Given the description of an element on the screen output the (x, y) to click on. 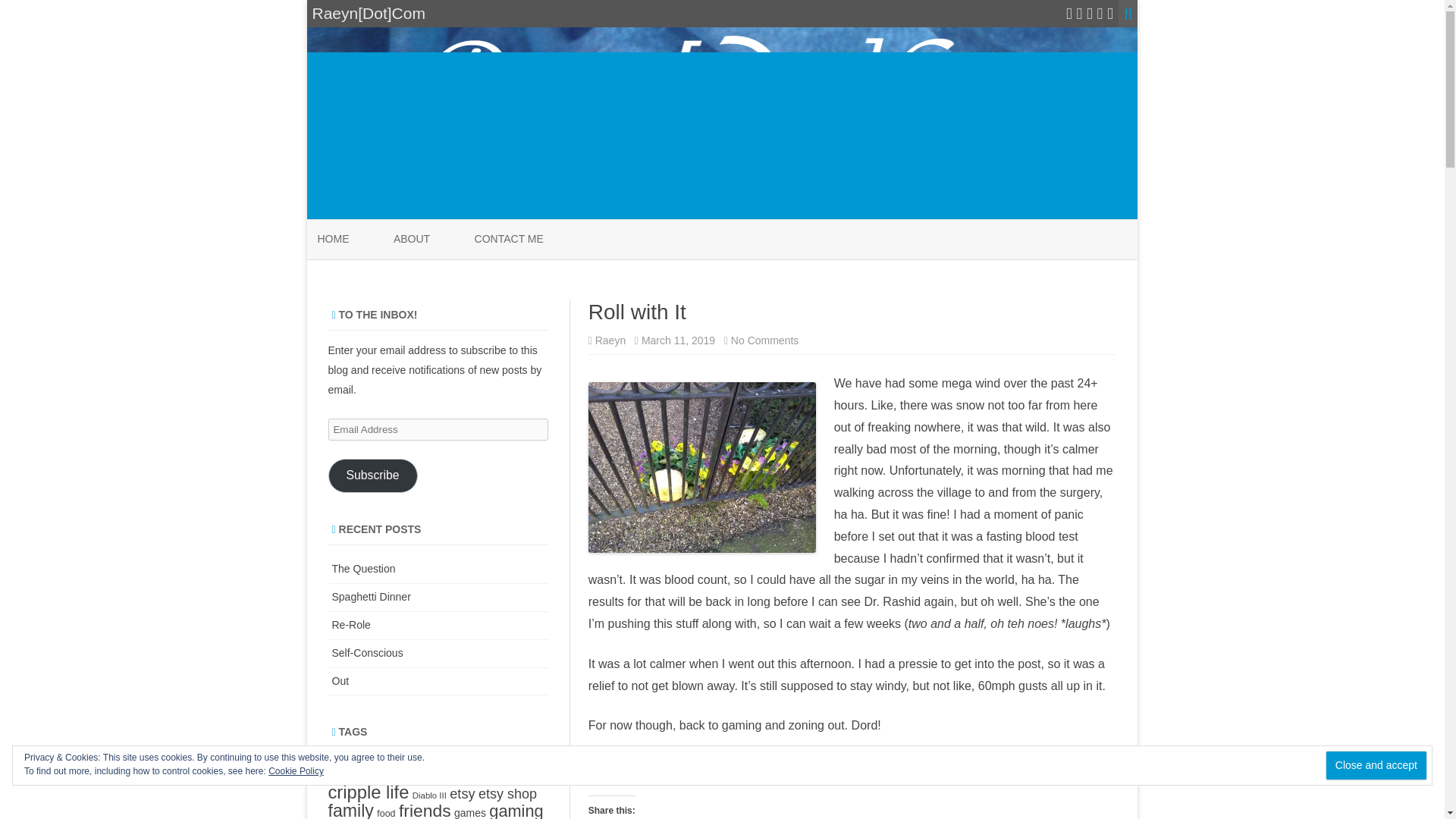
Close and accept (1375, 765)
Raeyn (763, 340)
Skip to content (610, 340)
CONTACT ME (371, 475)
ABOUT (508, 239)
